Given the description of an element on the screen output the (x, y) to click on. 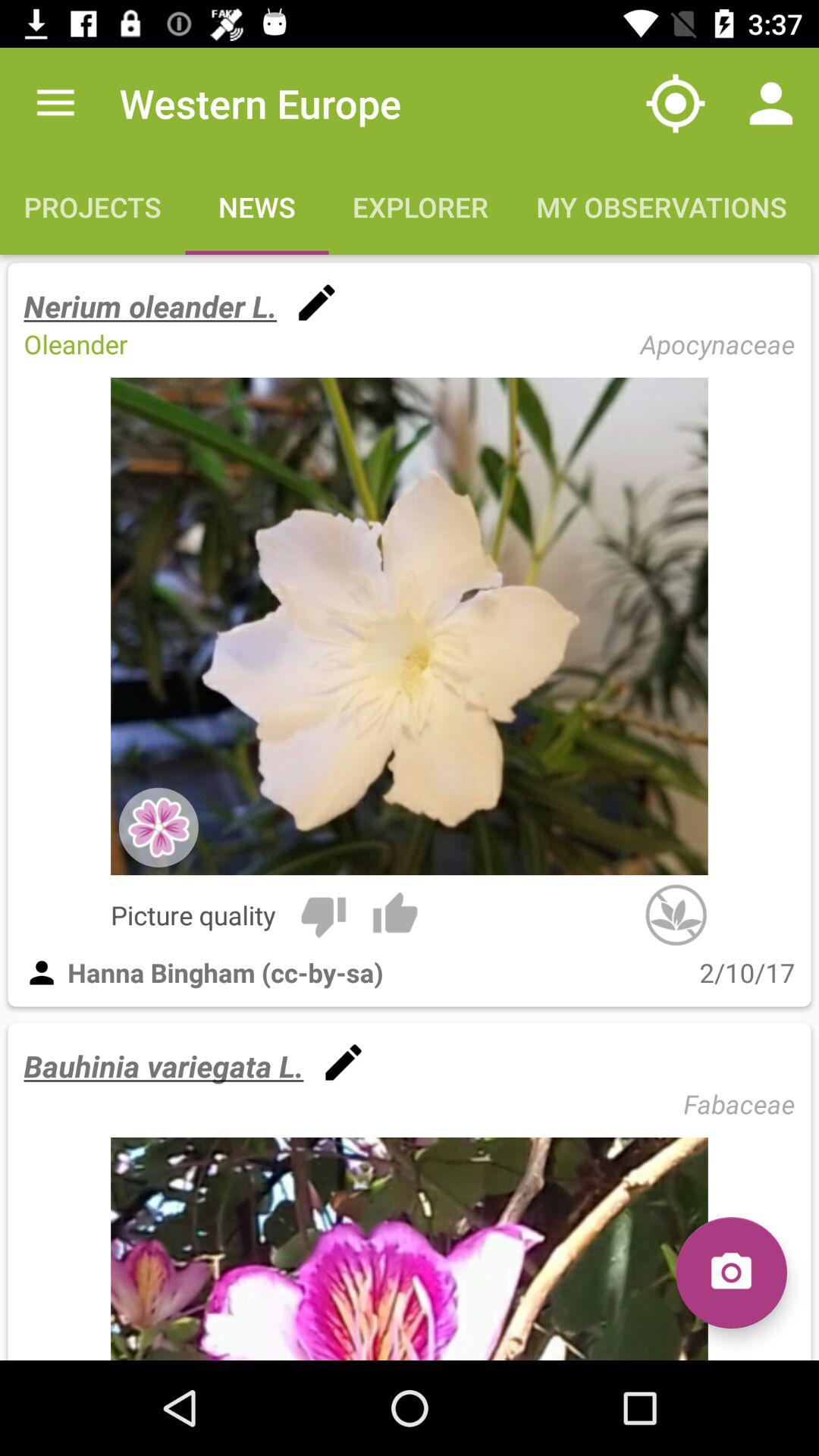
open icon above the projects item (55, 103)
